Given the description of an element on the screen output the (x, y) to click on. 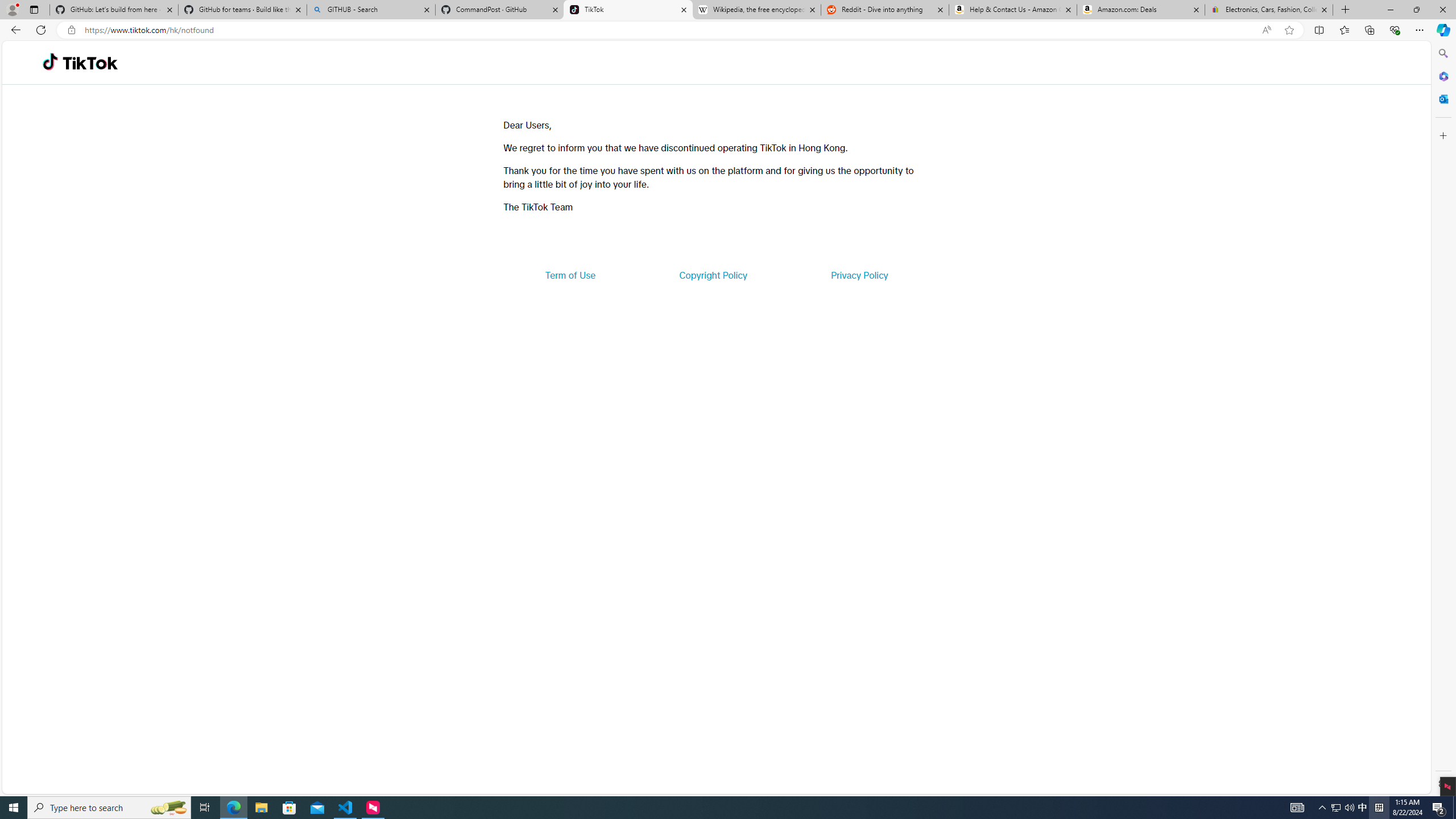
GITHUB - Search (370, 9)
Copyright Policy (712, 274)
